Given the description of an element on the screen output the (x, y) to click on. 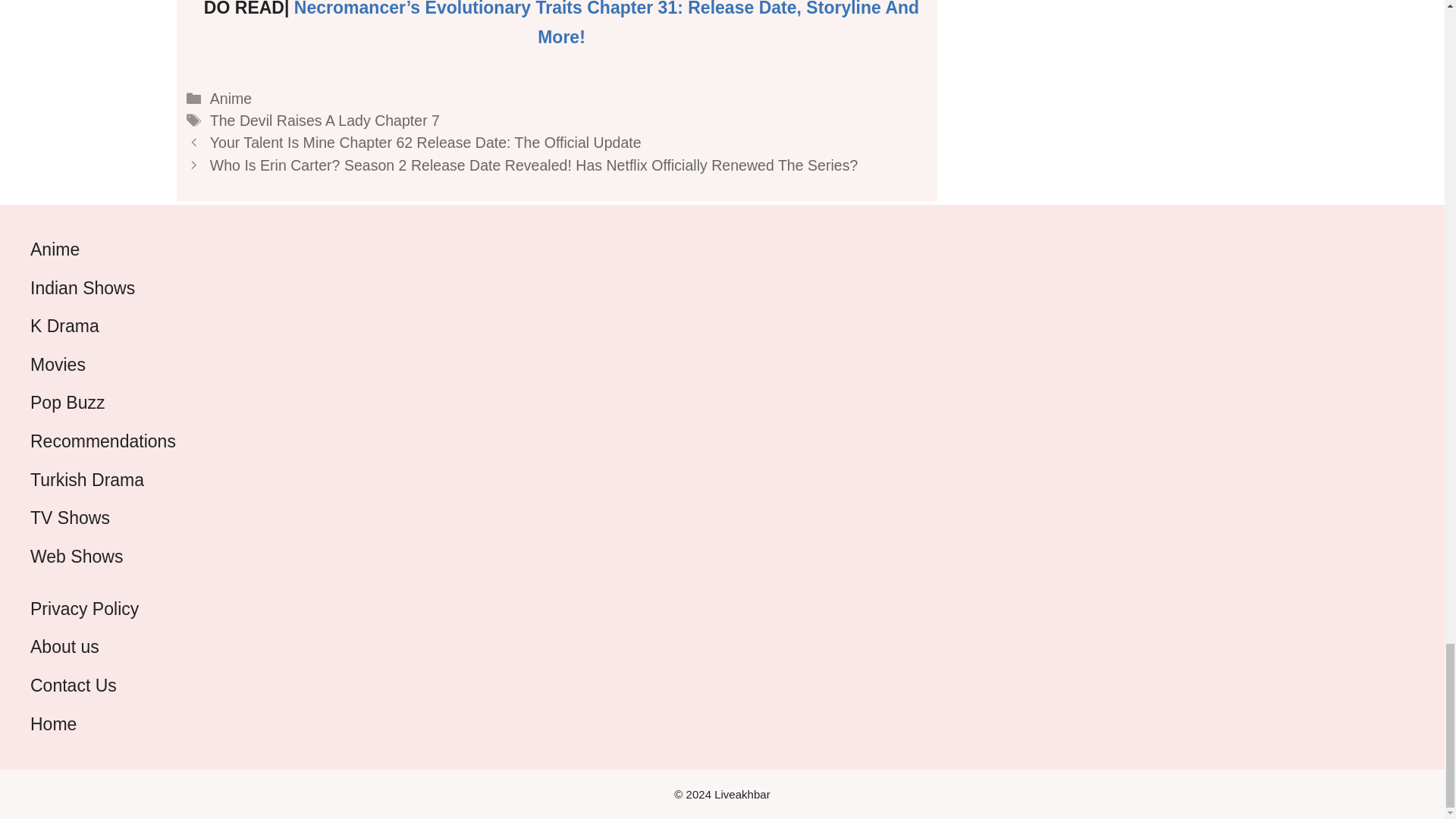
The Devil Raises A Lady Chapter 7 (324, 120)
Anime (230, 98)
